Given the description of an element on the screen output the (x, y) to click on. 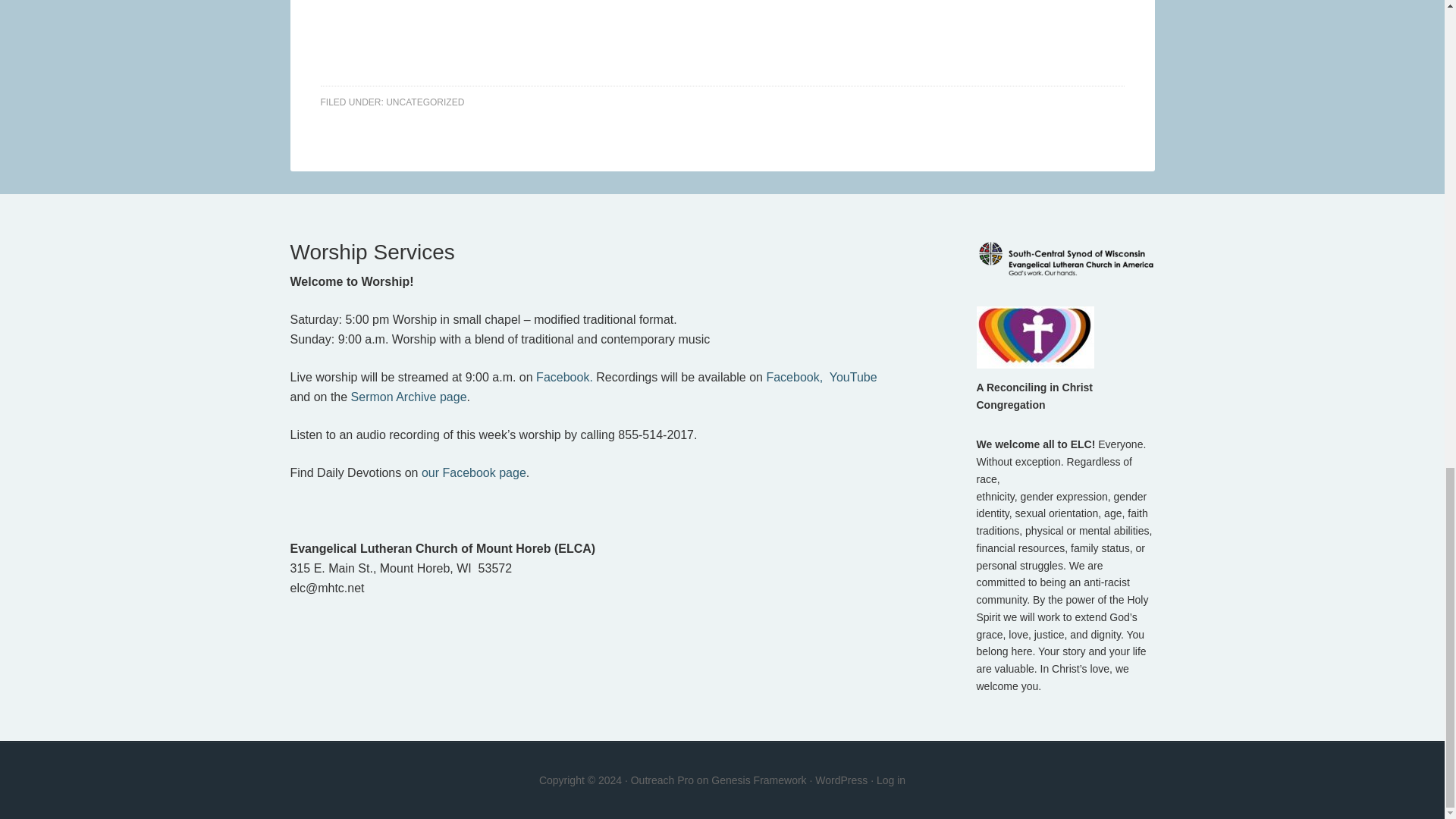
UNCATEGORIZED (424, 102)
Facebook. (563, 377)
Facebook, (793, 377)
